Given the description of an element on the screen output the (x, y) to click on. 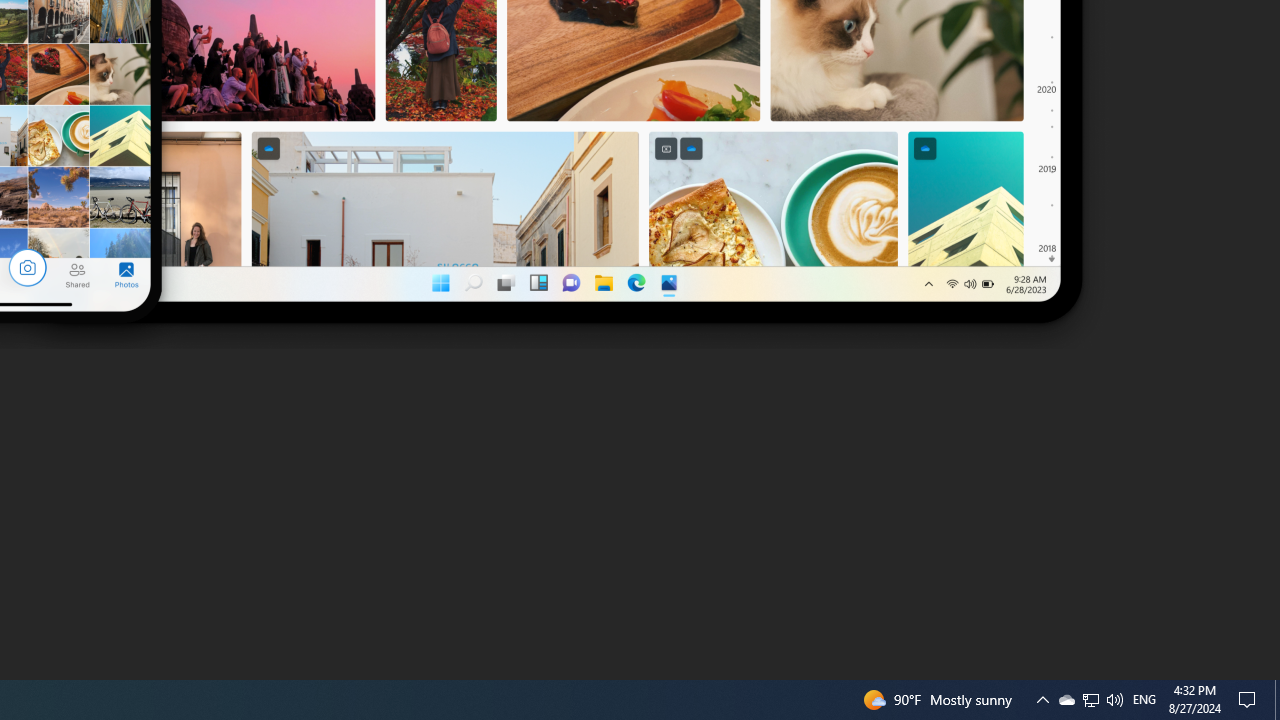
Show desktop (1277, 699)
User Promoted Notification Area (1090, 699)
Notification Chevron (1091, 699)
Action Center, No new notifications (1066, 699)
Tray Input Indicator - English (United States) (1042, 699)
Q2790: 100% (1250, 699)
